Given the description of an element on the screen output the (x, y) to click on. 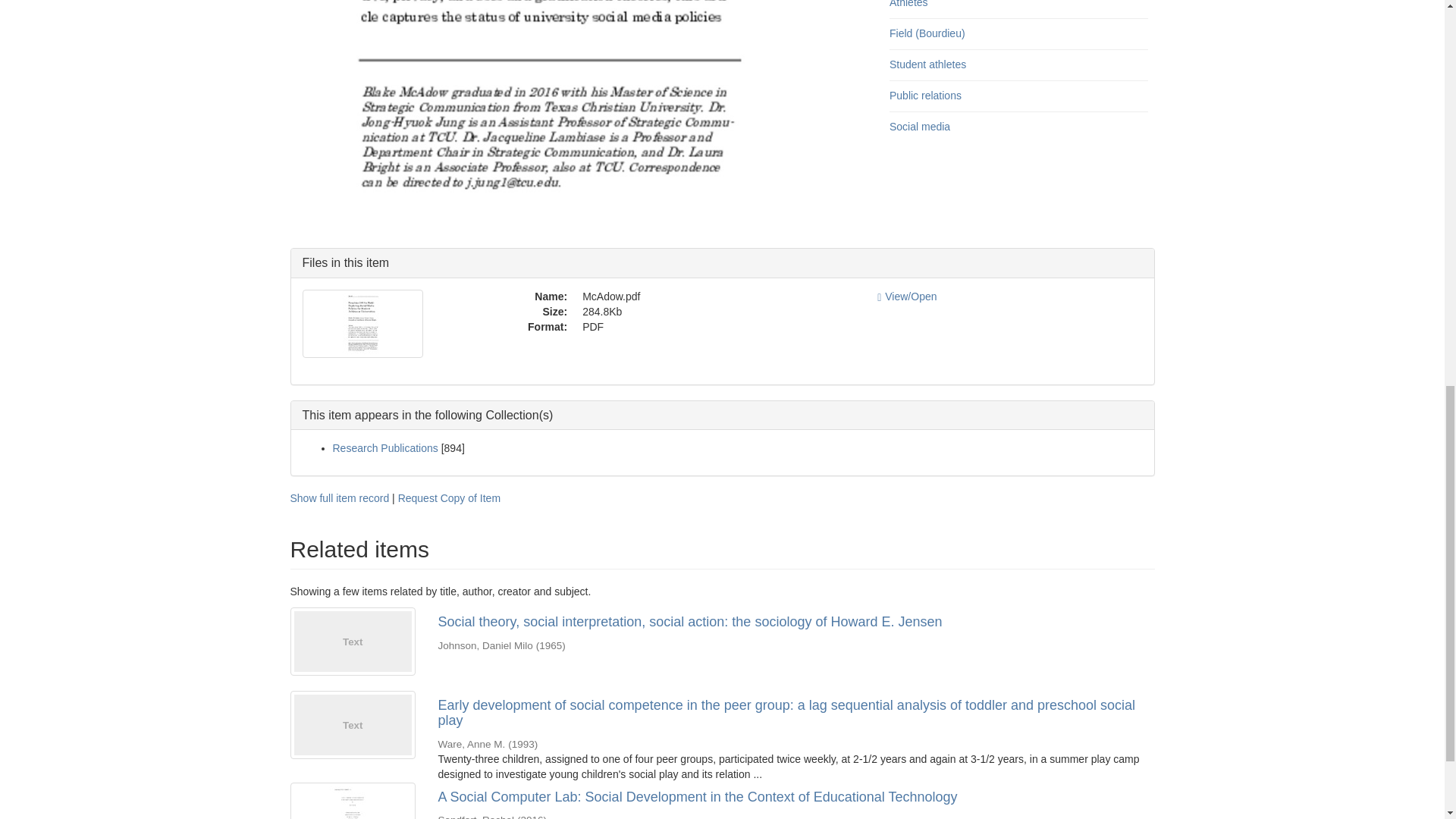
Student athletes (927, 64)
Athletes (908, 4)
McAdow.pdf (718, 296)
